Given the description of an element on the screen output the (x, y) to click on. 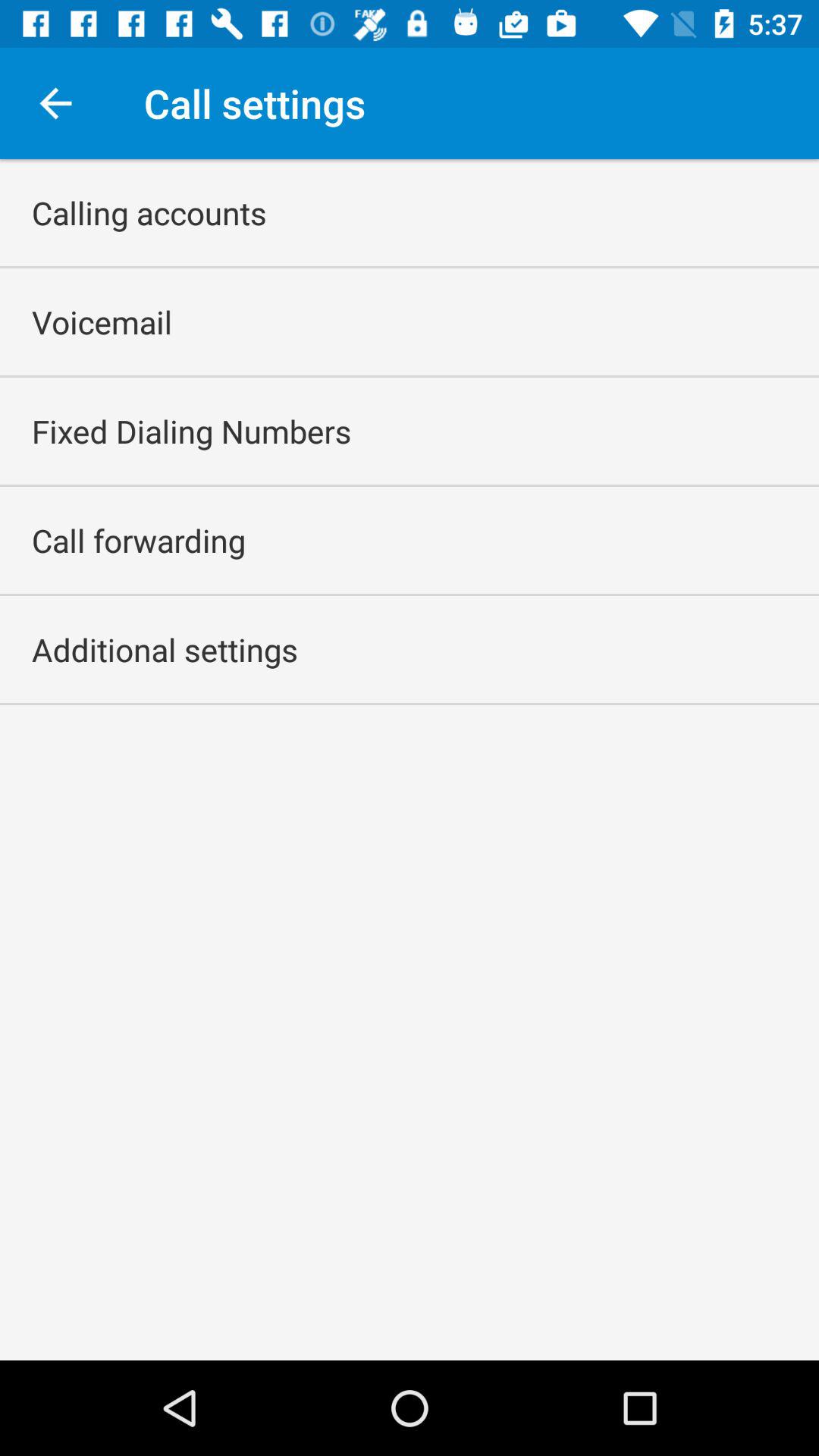
swipe until the voicemail icon (101, 321)
